Given the description of an element on the screen output the (x, y) to click on. 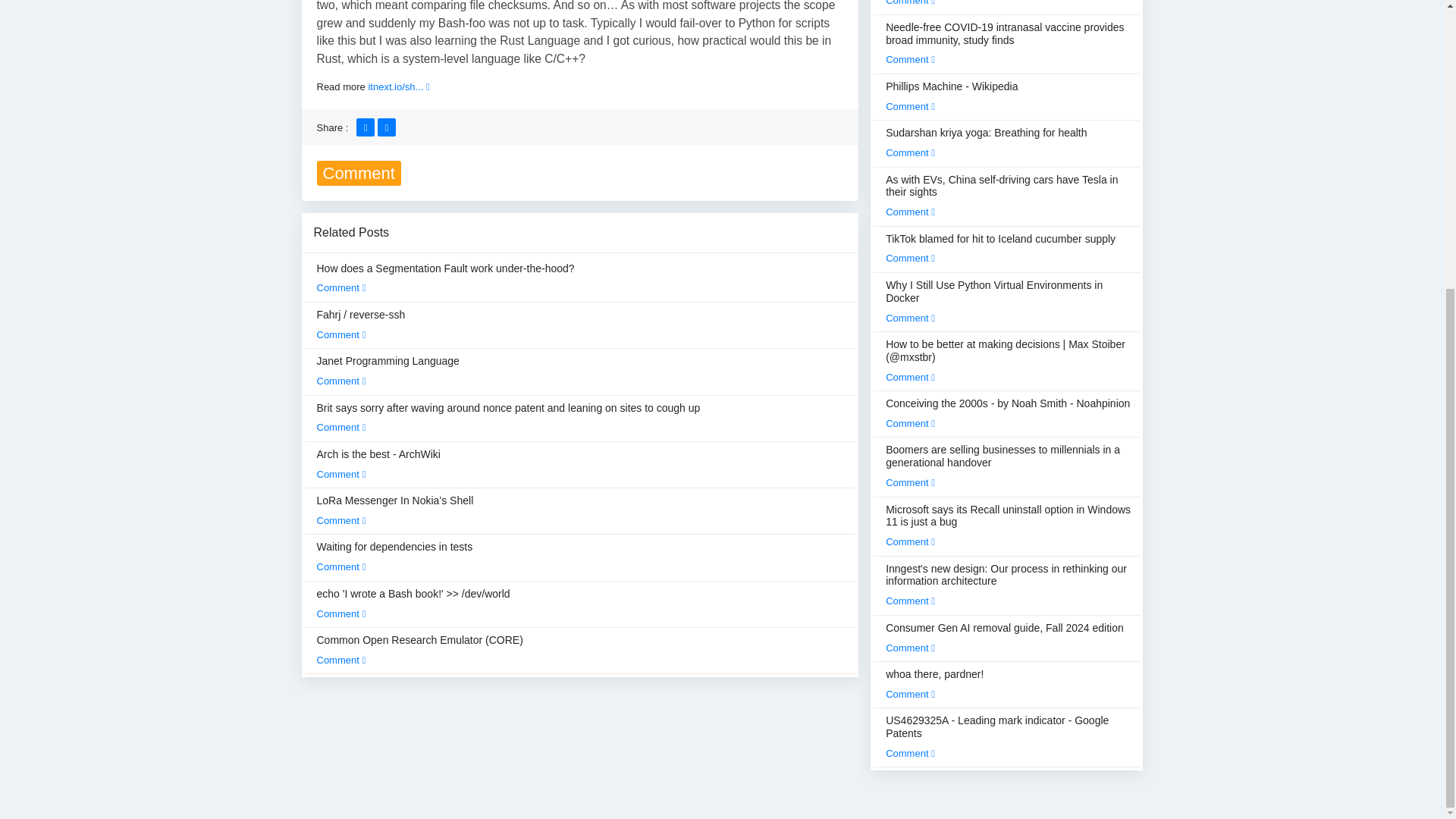
Comment (341, 380)
Comment (341, 287)
Janet Programming Language (388, 370)
Comment (341, 473)
How does a Segmentation Fault work under-the-hood? (446, 278)
Comment (341, 613)
Comment (341, 520)
Waiting for dependencies in tests (395, 556)
Comment (341, 566)
